Given the description of an element on the screen output the (x, y) to click on. 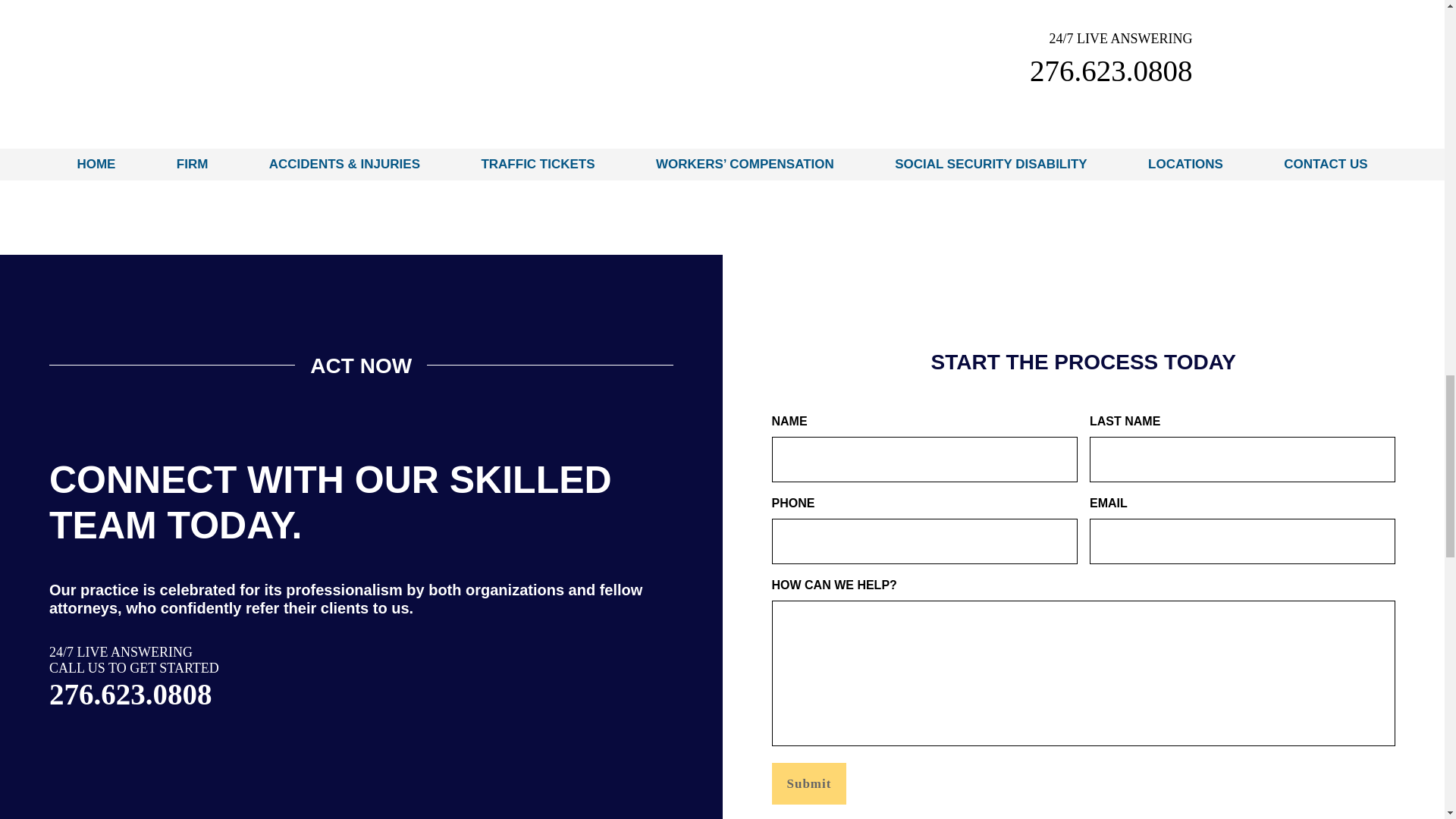
Submit (809, 783)
